Given the description of an element on the screen output the (x, y) to click on. 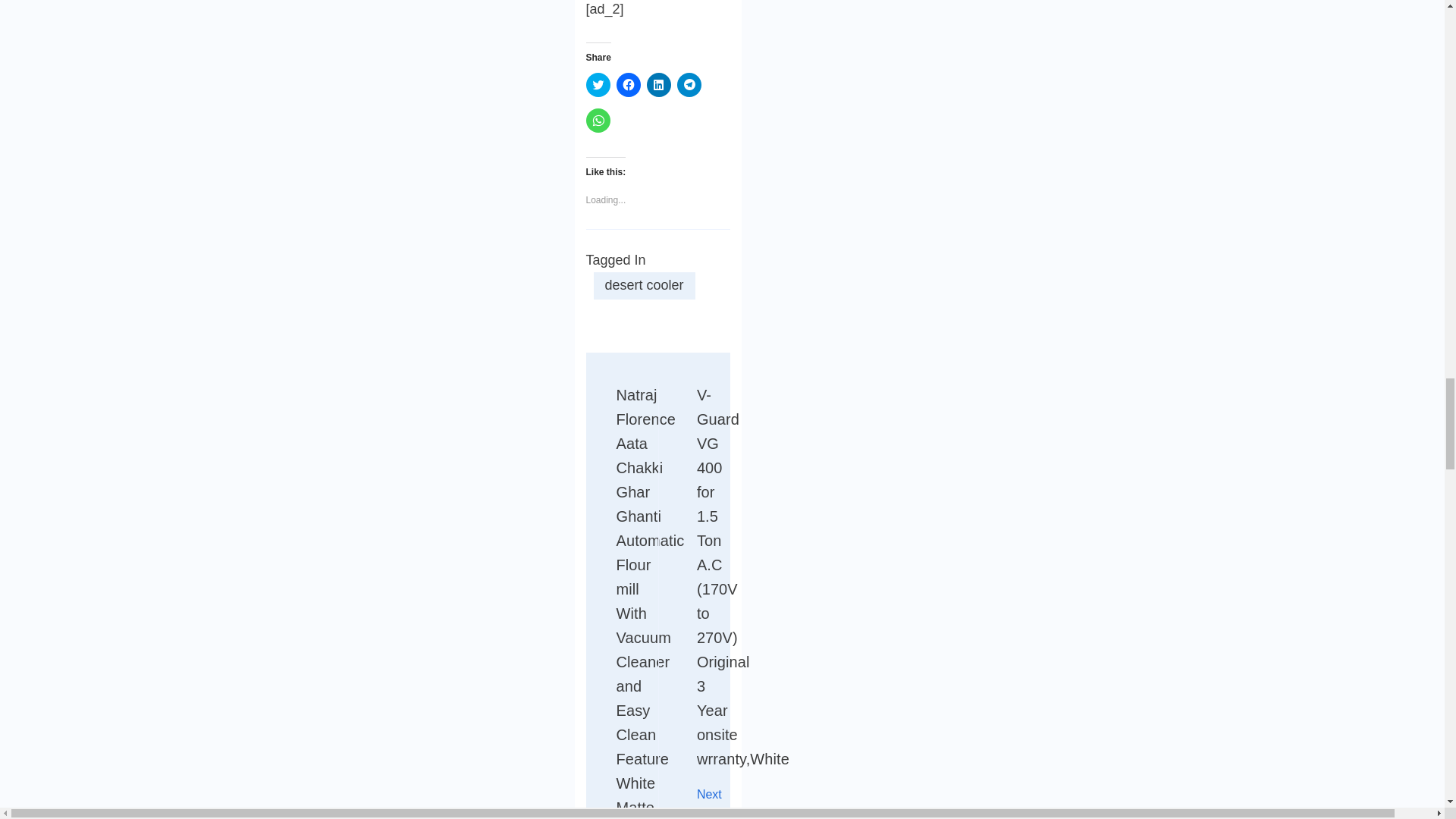
Click to share on LinkedIn (657, 84)
Click to share on Facebook (627, 84)
Click to share on WhatsApp (597, 120)
Click to share on Twitter (597, 84)
Click to share on Telegram (688, 84)
